Given the description of an element on the screen output the (x, y) to click on. 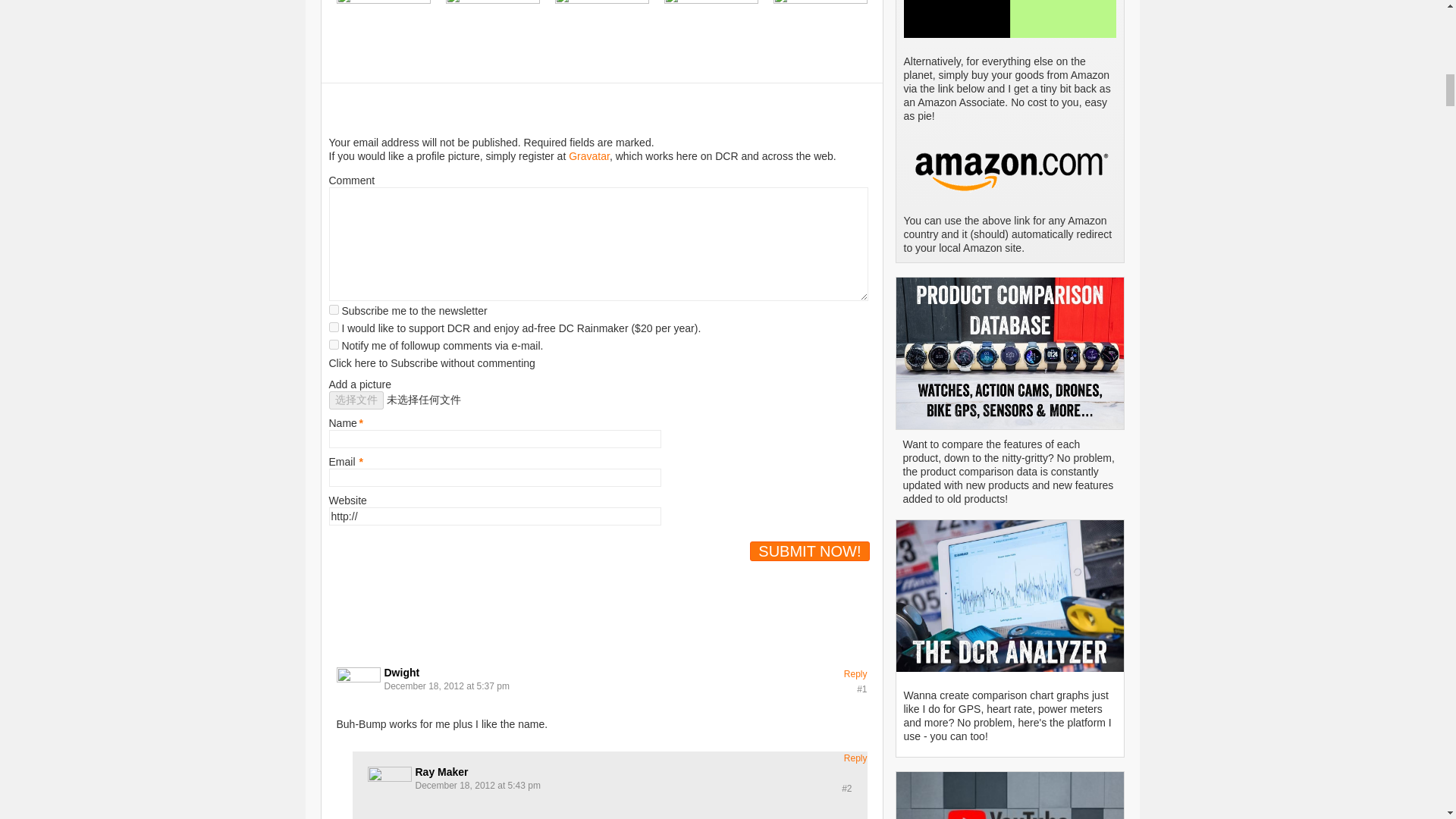
How to download free maps to your Garmin Edge GPS (601, 2)
Submit Now! (809, 551)
DC Rainmaker YouTube Channel (1010, 795)
How to fix heart rate strap chaffing issues (383, 2)
1 (334, 344)
on (334, 309)
on (334, 327)
